Given the description of an element on the screen output the (x, y) to click on. 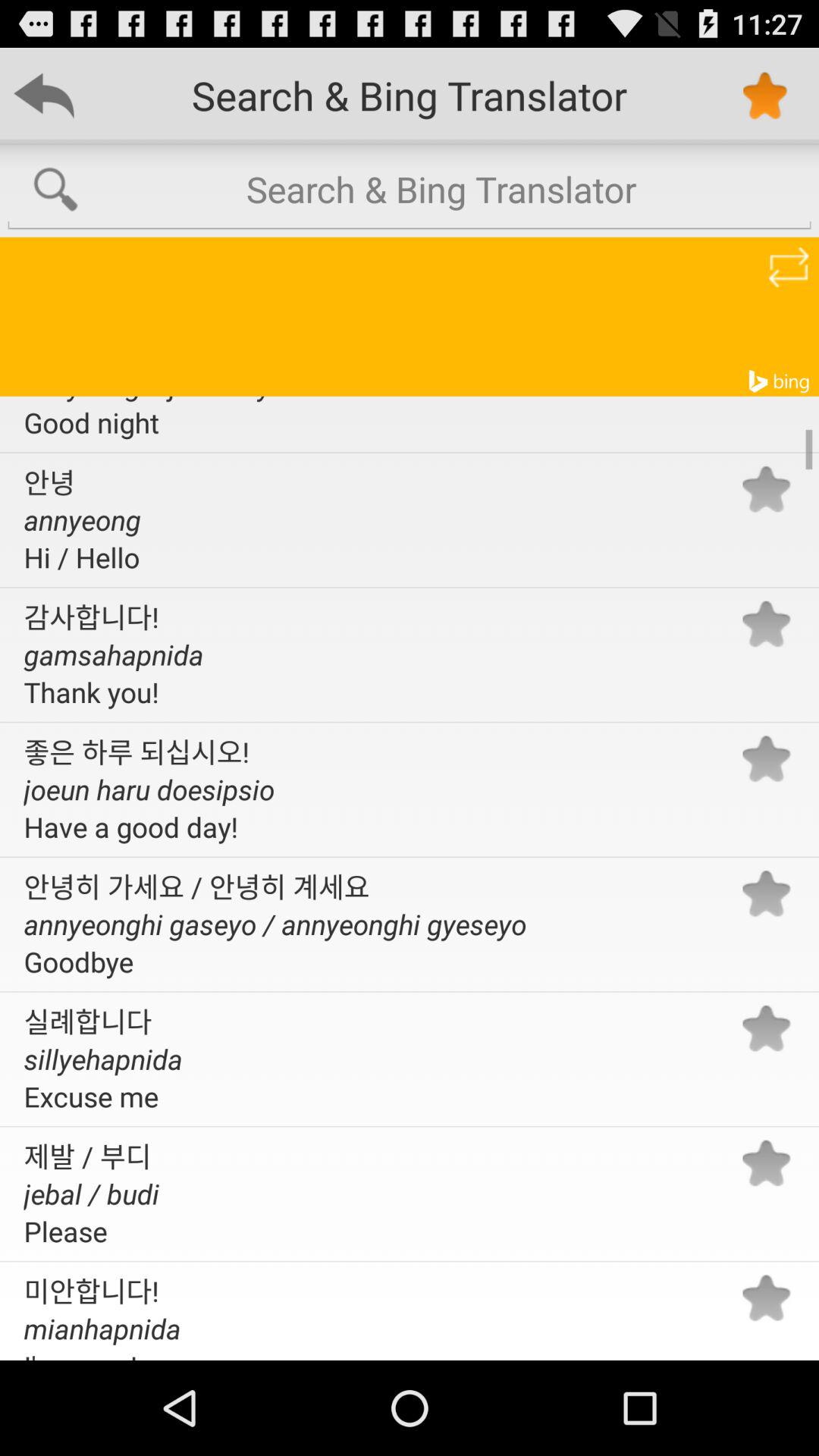
select the excuse me star icon (766, 1028)
click on star icon (764, 95)
